Given the description of an element on the screen output the (x, y) to click on. 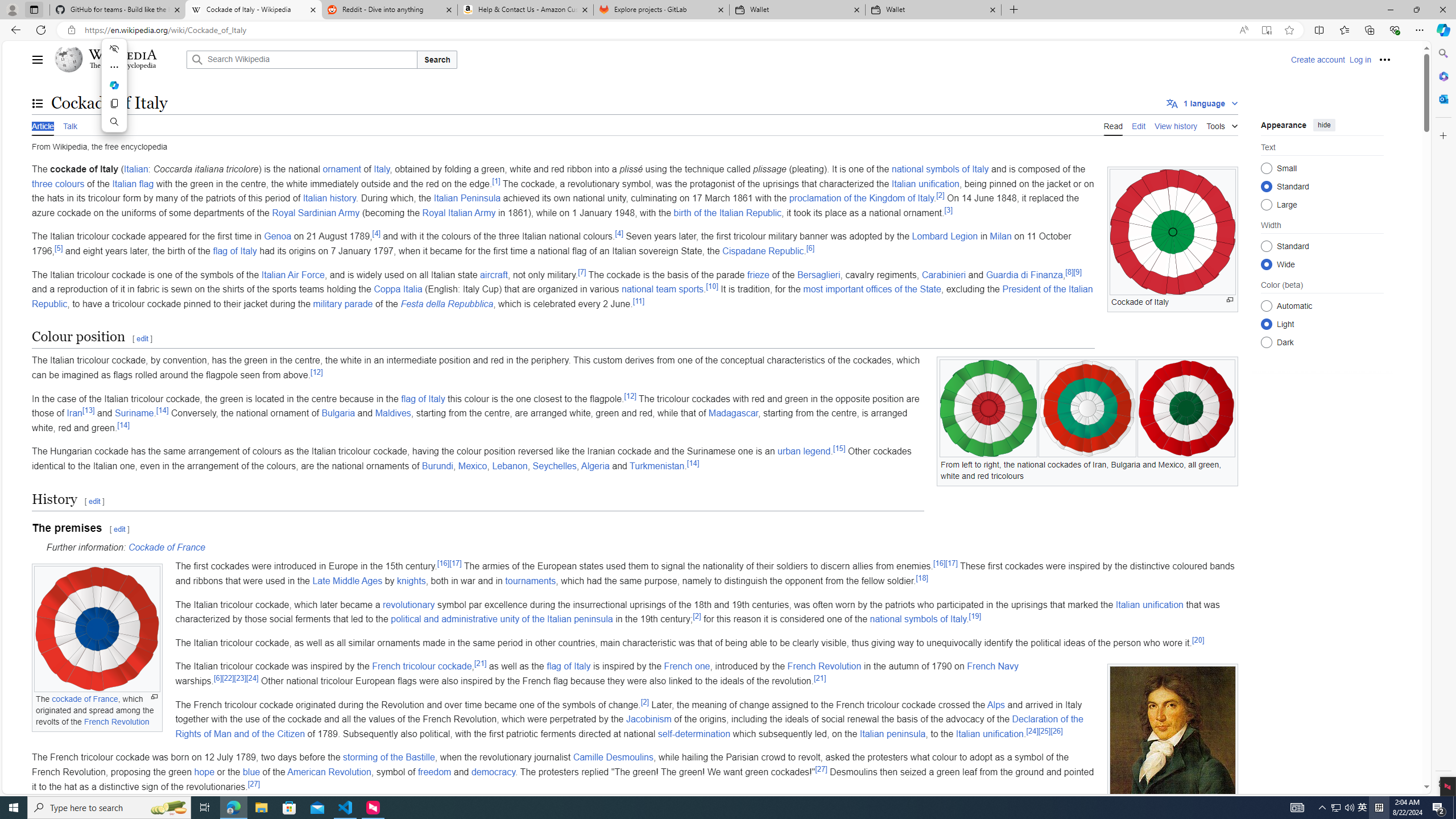
flag of Italy (568, 666)
Automatic (1266, 305)
military parade (342, 303)
[19] (974, 615)
View history (1176, 124)
Wikipedia (122, 54)
Royal Italian Army (459, 212)
Wide (1266, 263)
[26] (1055, 730)
Mexico (472, 466)
